Given the description of an element on the screen output the (x, y) to click on. 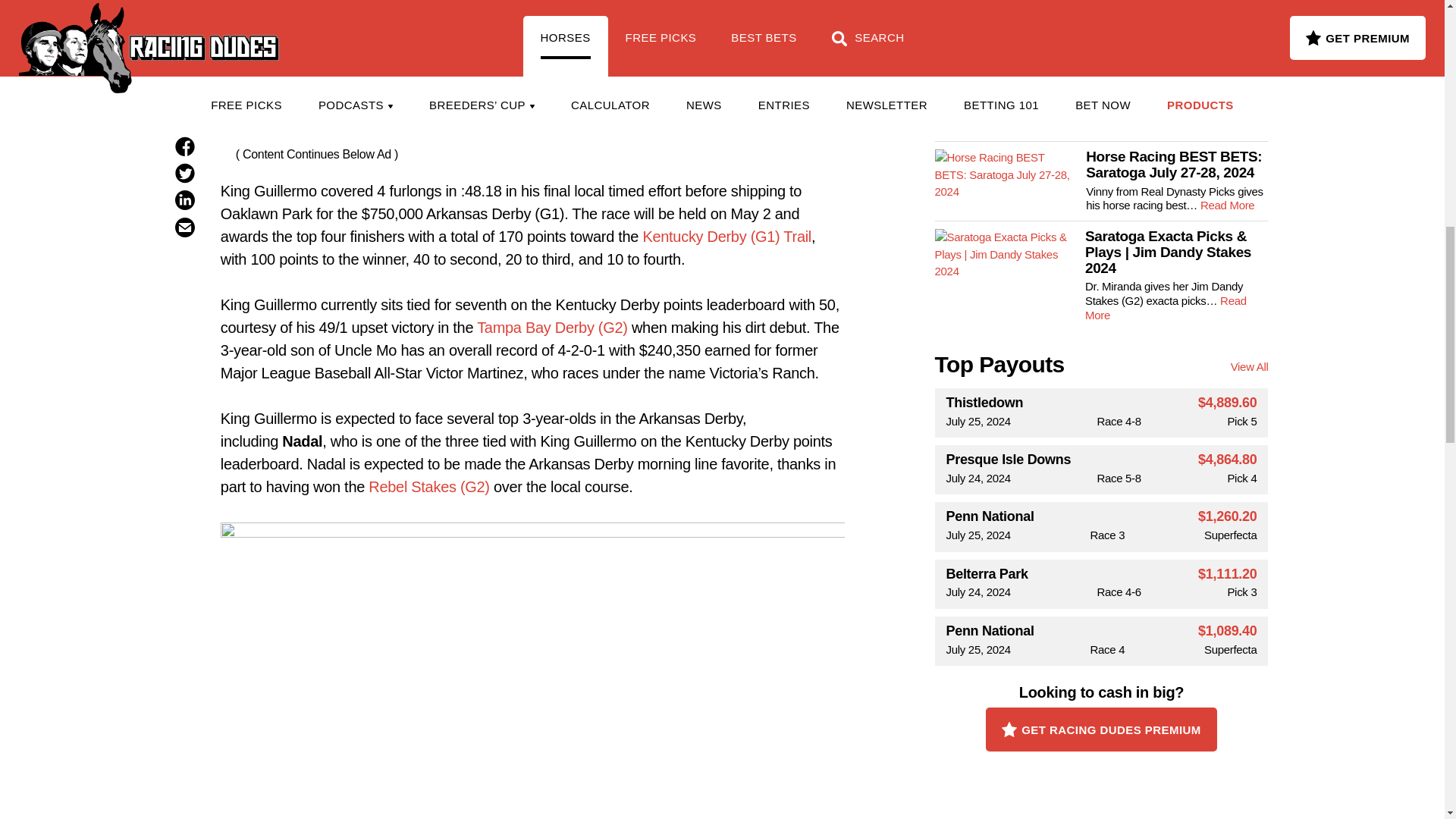
Posts by Curtis "Magic" Kalleward (532, 2)
